Given the description of an element on the screen output the (x, y) to click on. 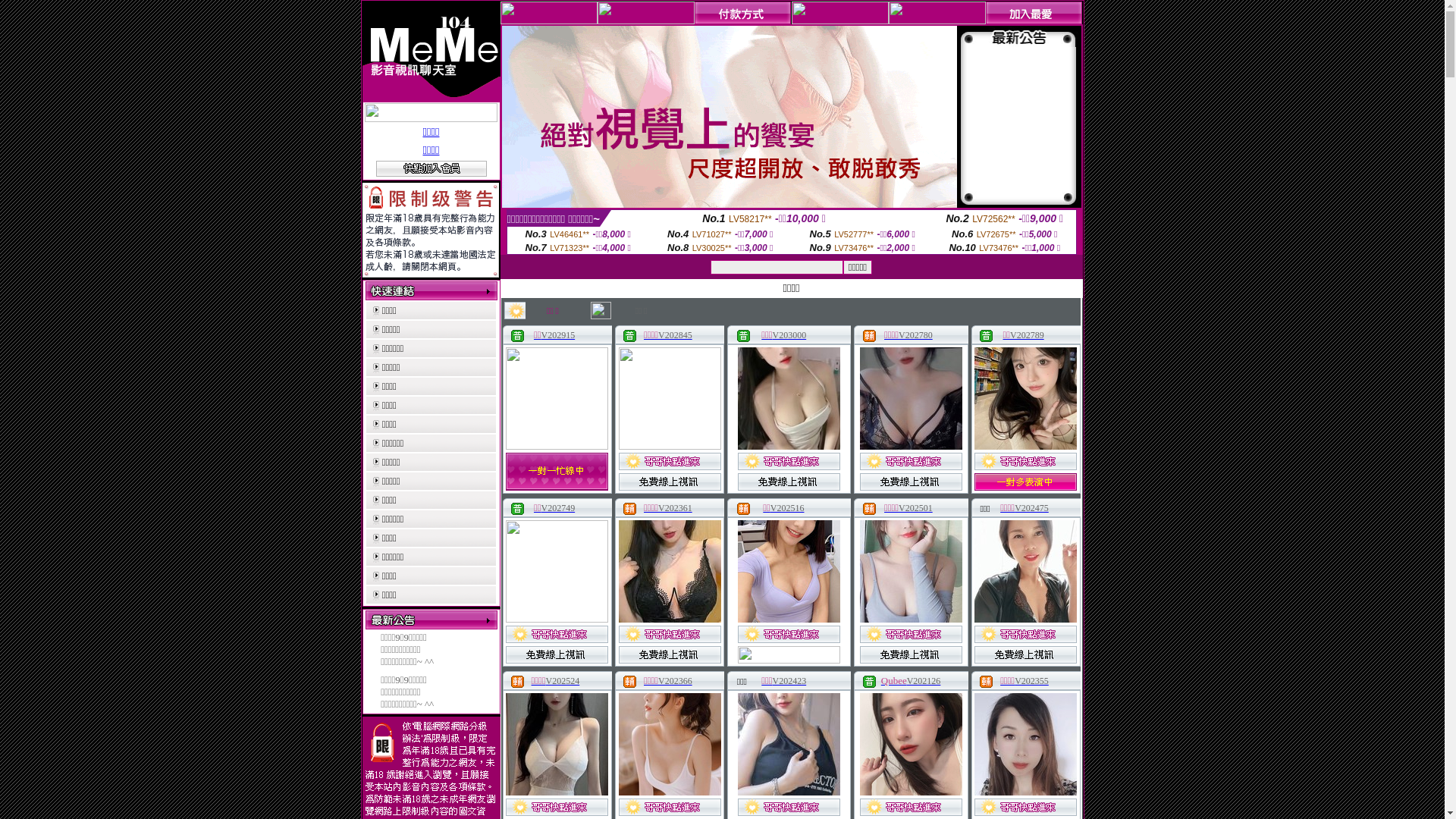
V202524 Element type: text (563, 680)
V202355 Element type: text (1031, 680)
Qubee Element type: text (893, 680)
V202423 Element type: text (788, 680)
V203000 Element type: text (788, 334)
V202516 Element type: text (787, 507)
V202780 Element type: text (915, 334)
V202915 Element type: text (557, 334)
V202475 Element type: text (1031, 507)
V202361 Element type: text (675, 507)
V202789 Element type: text (1027, 334)
V202749 Element type: text (557, 507)
V202501 Element type: text (915, 507)
V202126 Element type: text (923, 680)
V202845 Element type: text (675, 334)
V202366 Element type: text (675, 680)
